Given the description of an element on the screen output the (x, y) to click on. 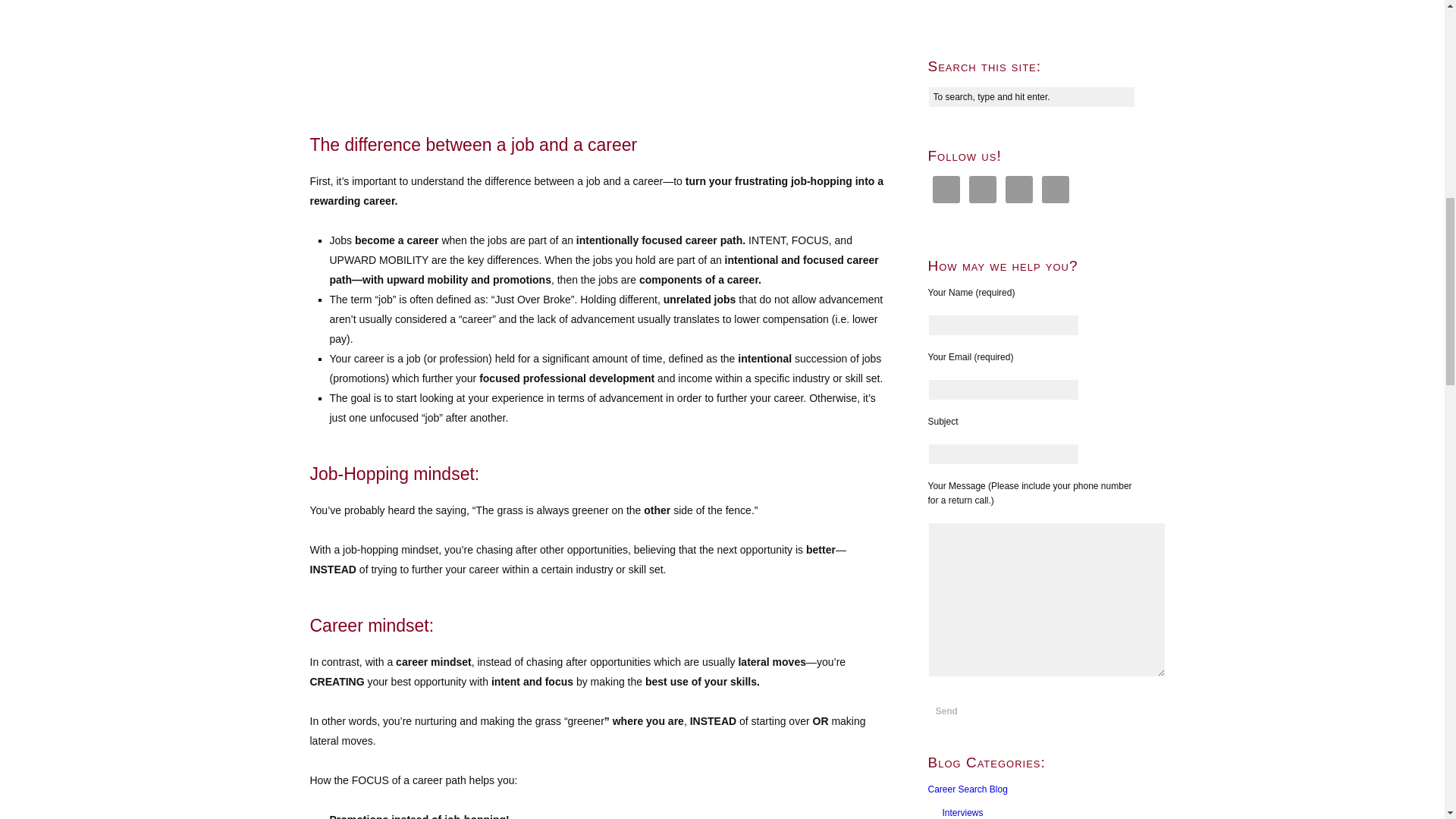
Interviews (962, 812)
Send (946, 711)
To search, type and hit enter. (1031, 96)
Send (946, 711)
Career Search Blog (967, 788)
